Given the description of an element on the screen output the (x, y) to click on. 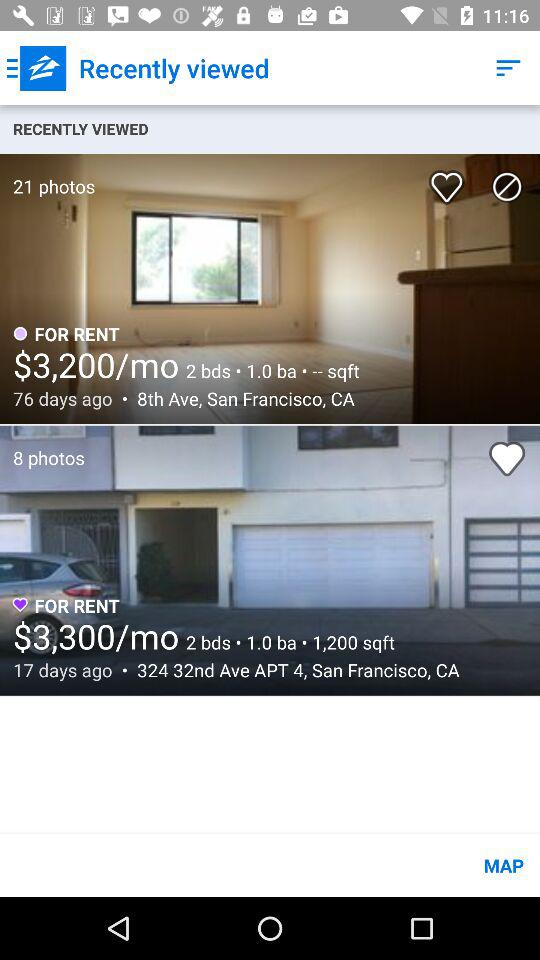
scroll to the map (270, 864)
